Given the description of an element on the screen output the (x, y) to click on. 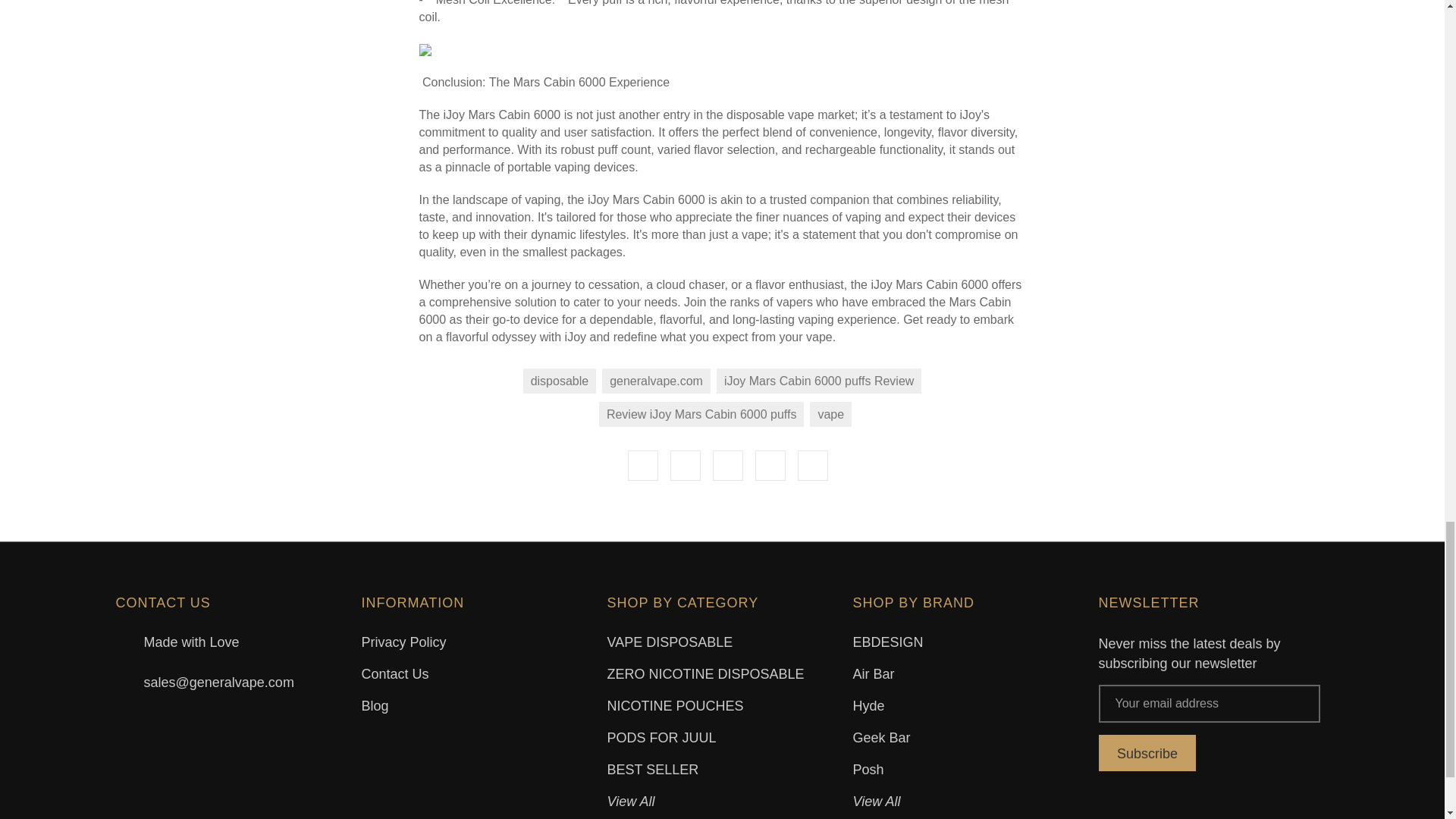
Email (684, 465)
Pinterest (812, 465)
Subscribe (1146, 752)
Facebook (642, 465)
Print (727, 465)
Twitter (770, 465)
